Given the description of an element on the screen output the (x, y) to click on. 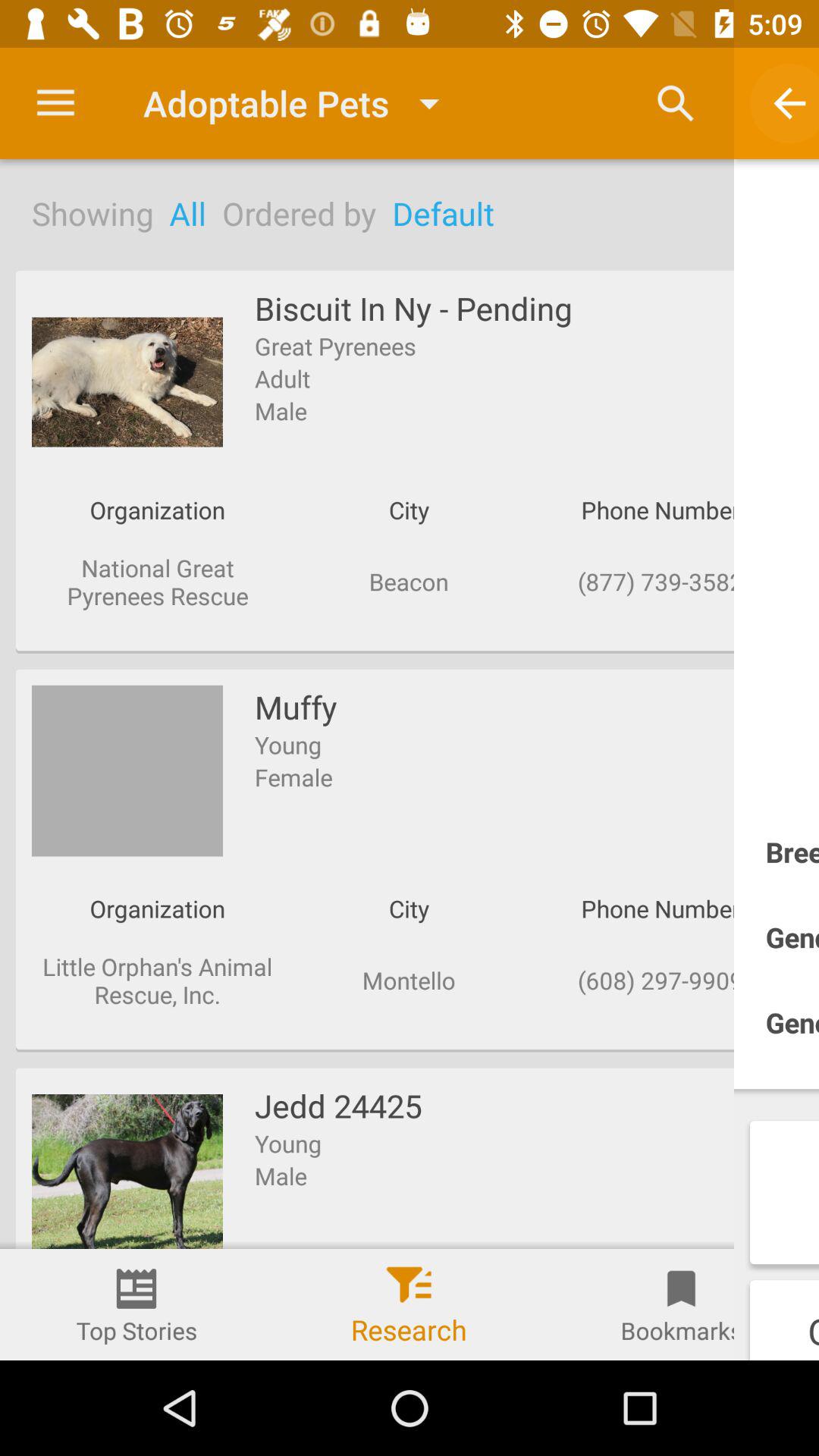
open settings (55, 103)
